Given the description of an element on the screen output the (x, y) to click on. 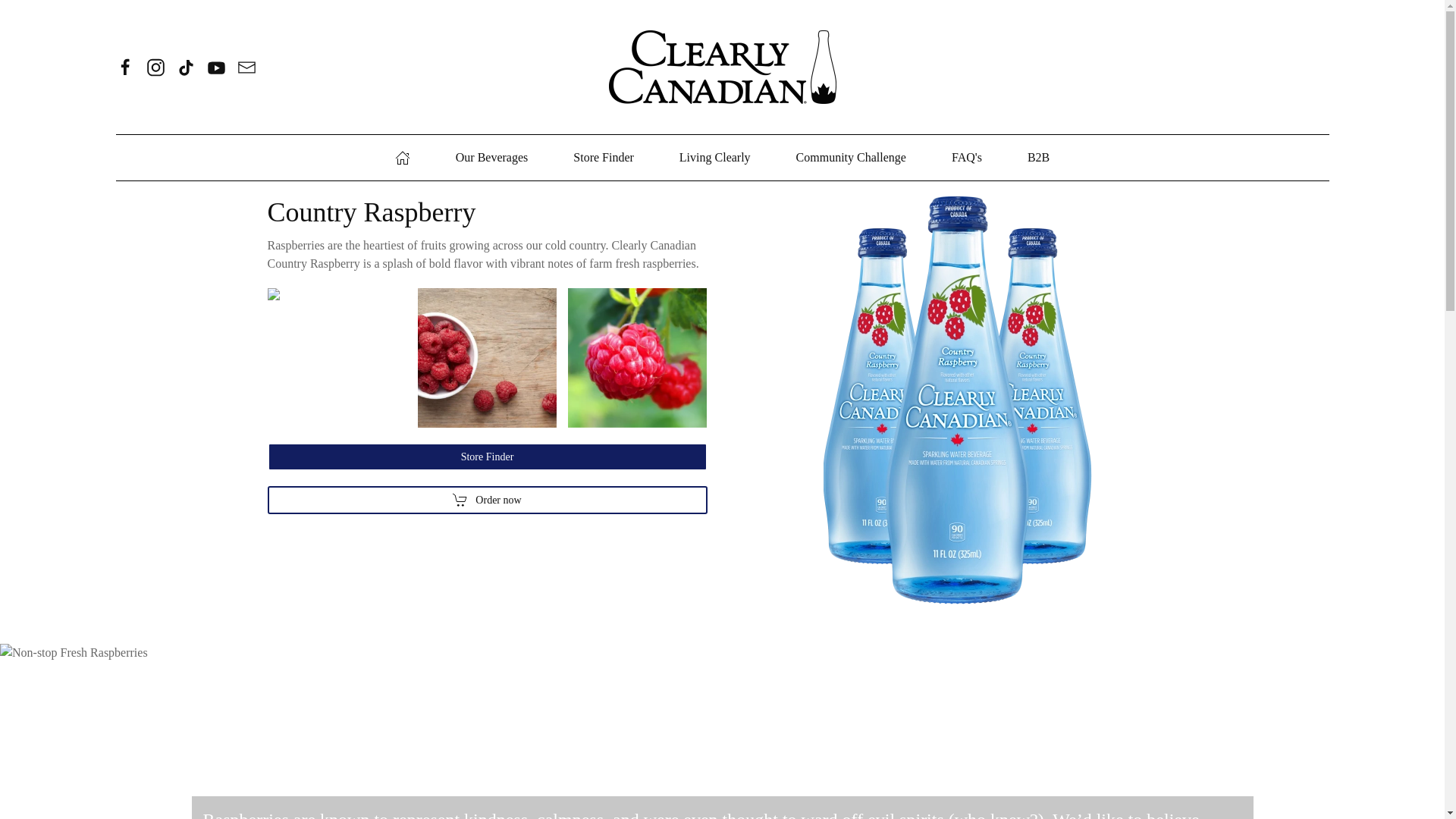
Store Finder (486, 456)
Order now (486, 456)
Community Challenge (850, 157)
Our Beverages (491, 157)
Store Finder (603, 157)
Order now (486, 500)
Living Clearly (715, 157)
